Given the description of an element on the screen output the (x, y) to click on. 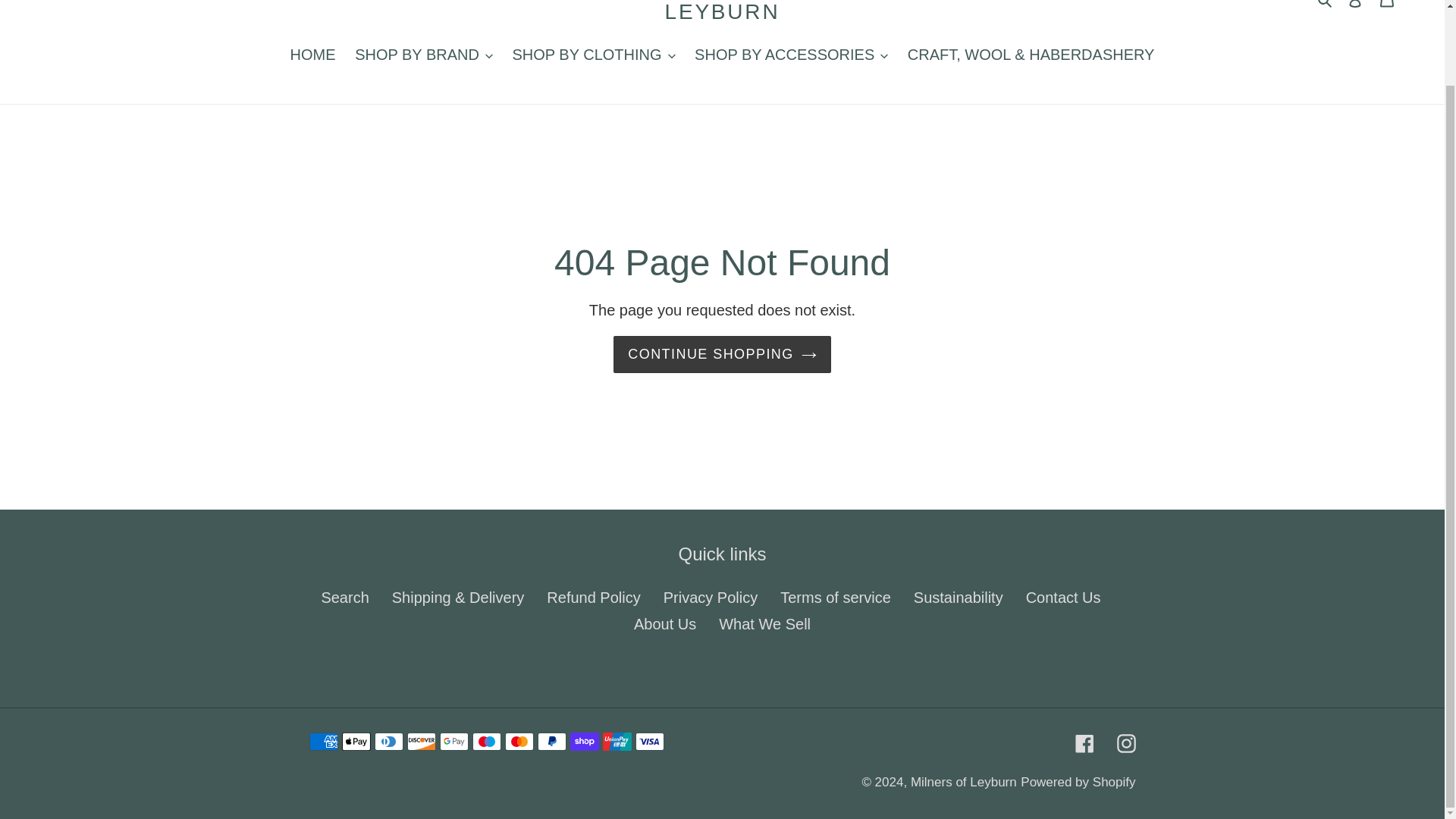
Cart (1387, 9)
Log in (1355, 9)
Search (1326, 5)
